Given the description of an element on the screen output the (x, y) to click on. 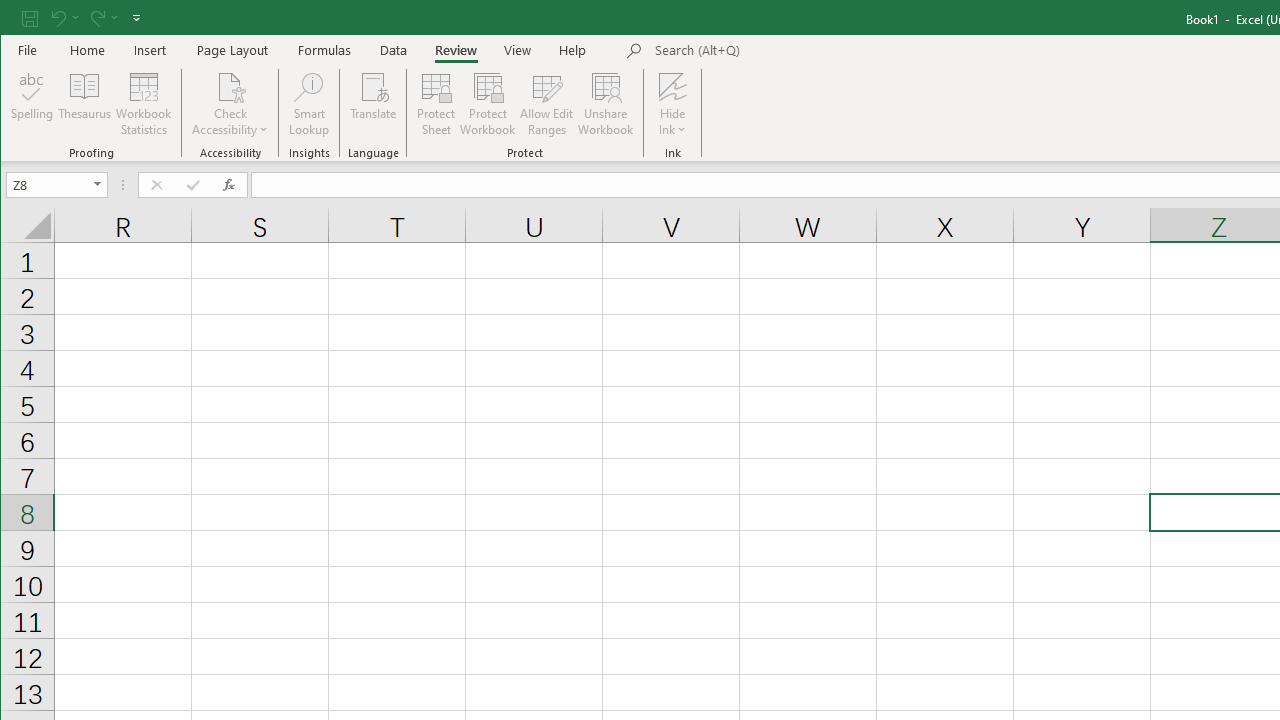
Workbook Statistics (143, 104)
Check Accessibility (230, 104)
Microsoft search (794, 51)
